Given the description of an element on the screen output the (x, y) to click on. 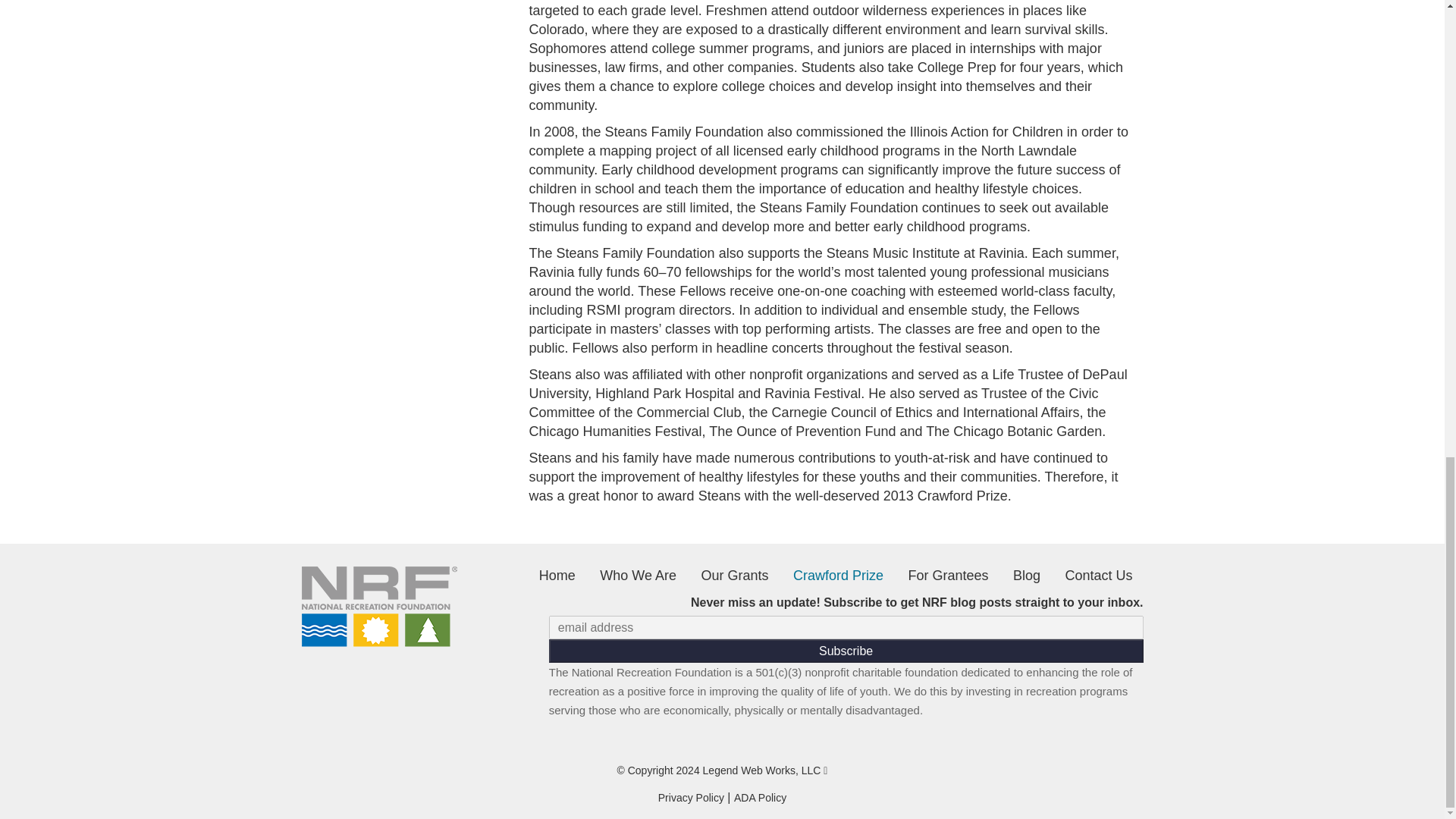
Subscribe (845, 650)
